Given the description of an element on the screen output the (x, y) to click on. 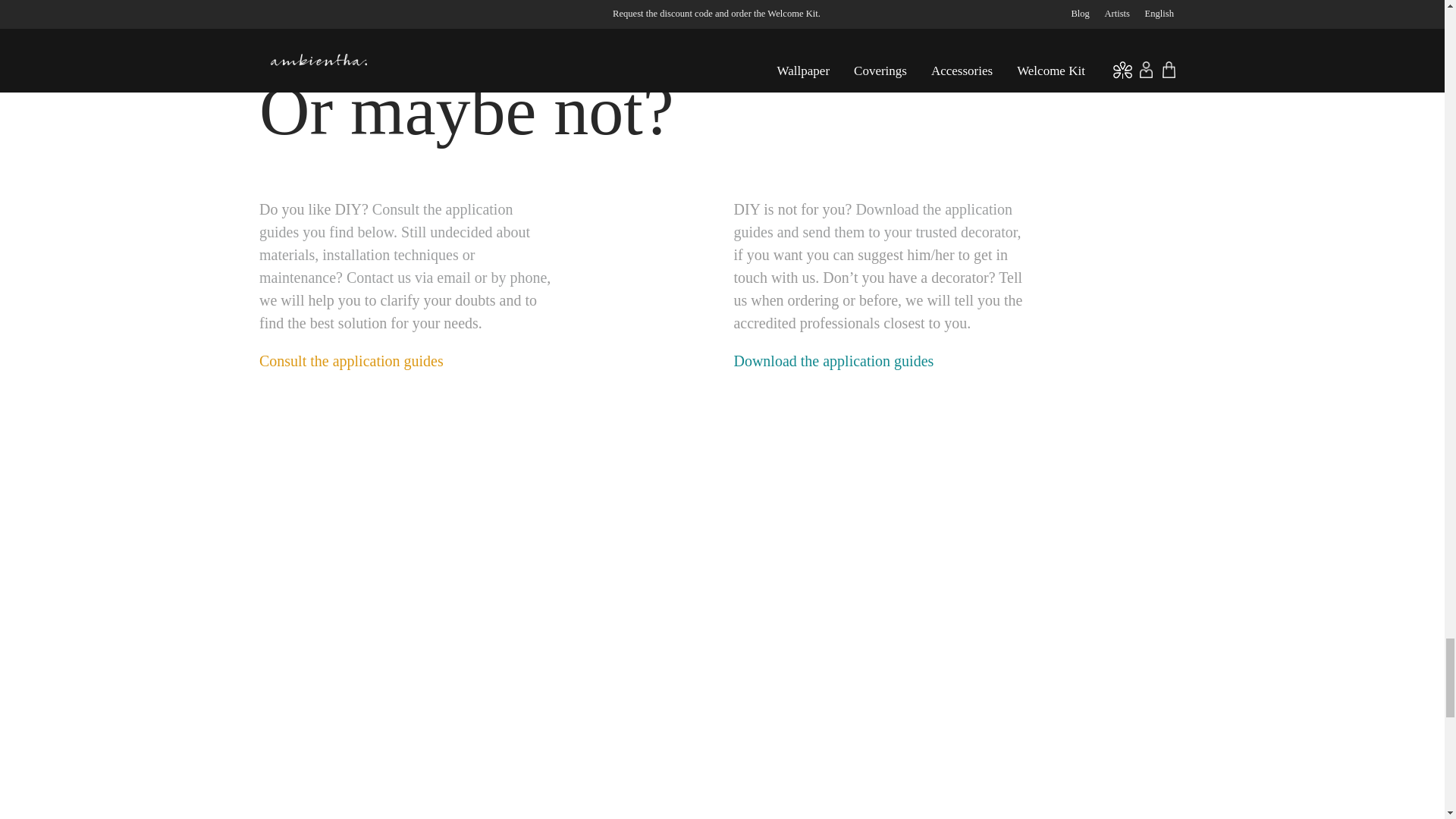
carta-da-parati-design-rhythm-ambientha (485, 773)
